Given the description of an element on the screen output the (x, y) to click on. 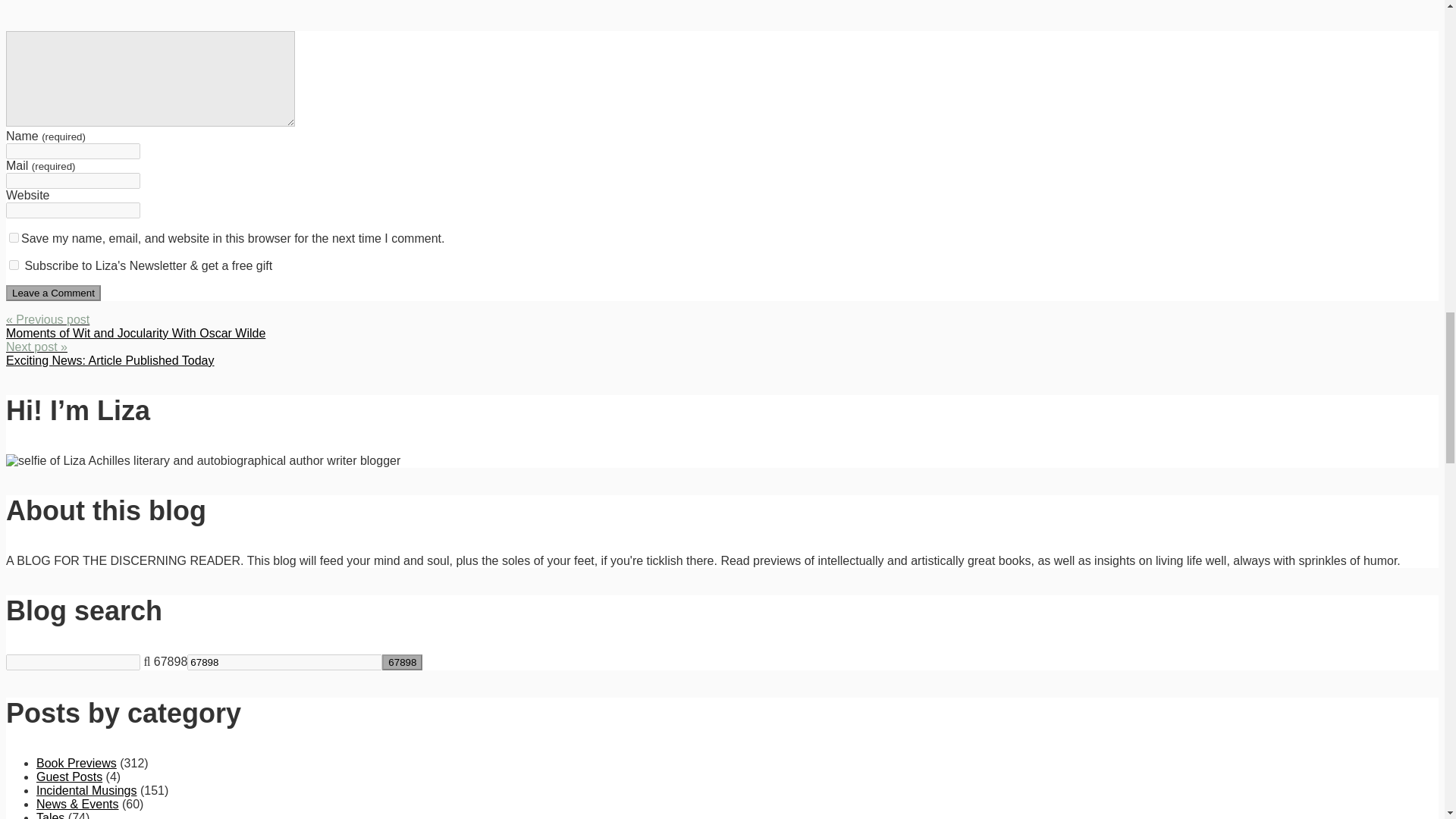
67898 (284, 662)
1 (13, 265)
Hi! I'm Liza (202, 460)
67898 (401, 662)
67898 (401, 662)
67898 (284, 662)
yes (13, 237)
Leave a Comment (52, 293)
